Given the description of an element on the screen output the (x, y) to click on. 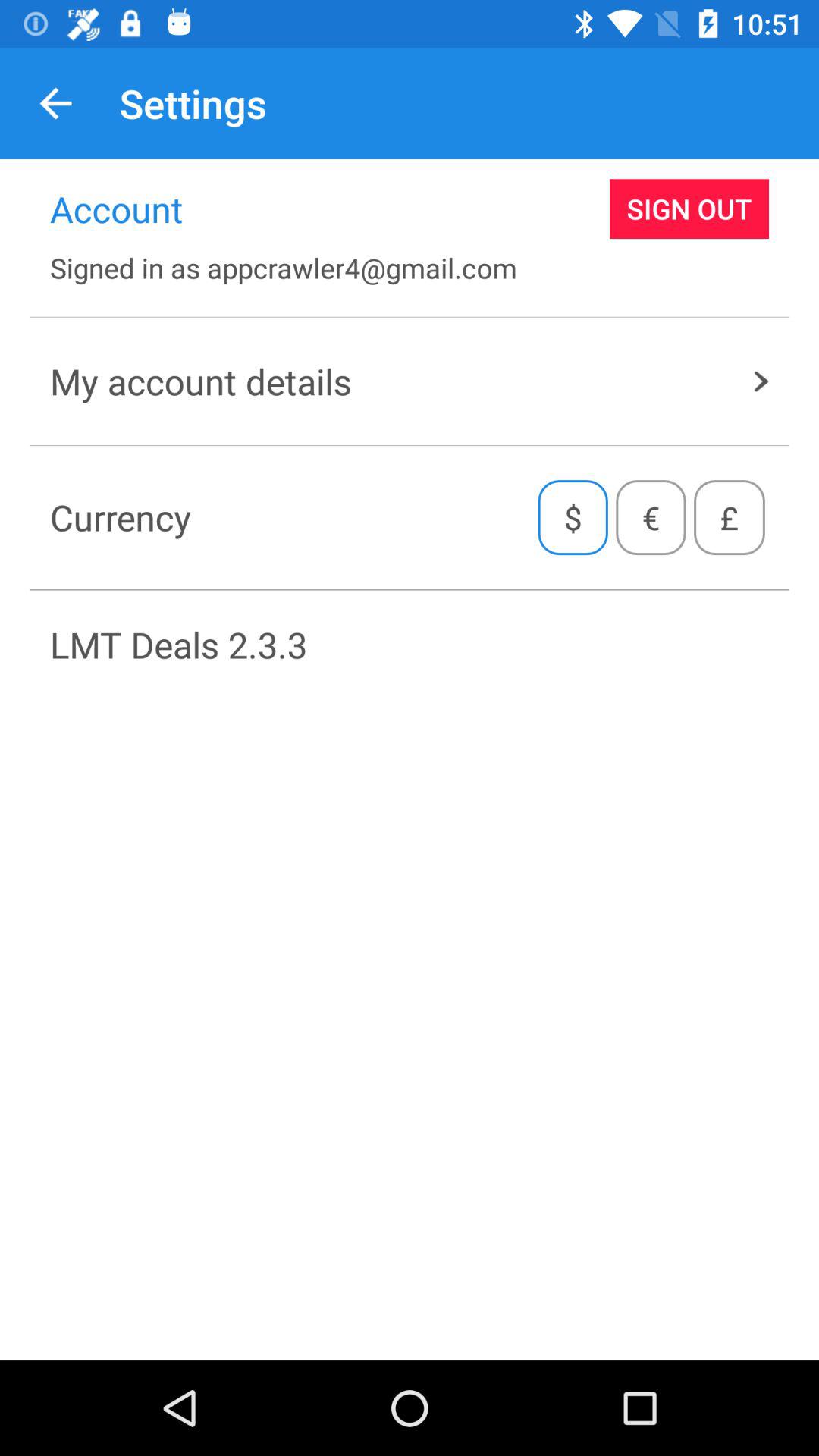
press the $ item (572, 517)
